Given the description of an element on the screen output the (x, y) to click on. 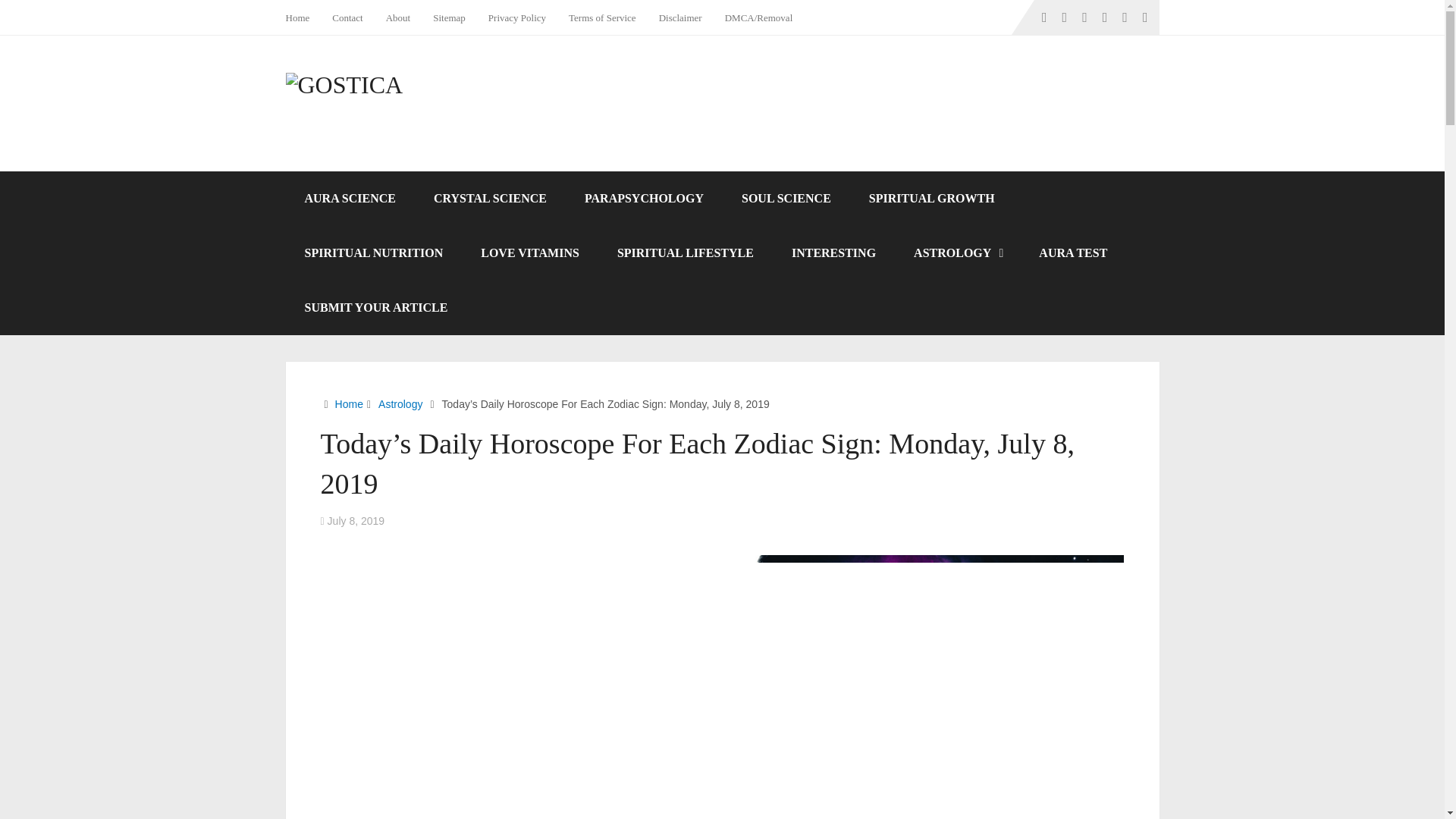
Sitemap (449, 17)
SPIRITUAL GROWTH (931, 198)
SOUL SCIENCE (786, 198)
Astrology (400, 404)
SPIRITUAL LIFESTYLE (685, 253)
Terms of Service (602, 17)
AURA SCIENCE (349, 198)
SUBMIT YOUR ARTICLE (375, 307)
Disclaimer (680, 17)
Home (348, 404)
